Given the description of an element on the screen output the (x, y) to click on. 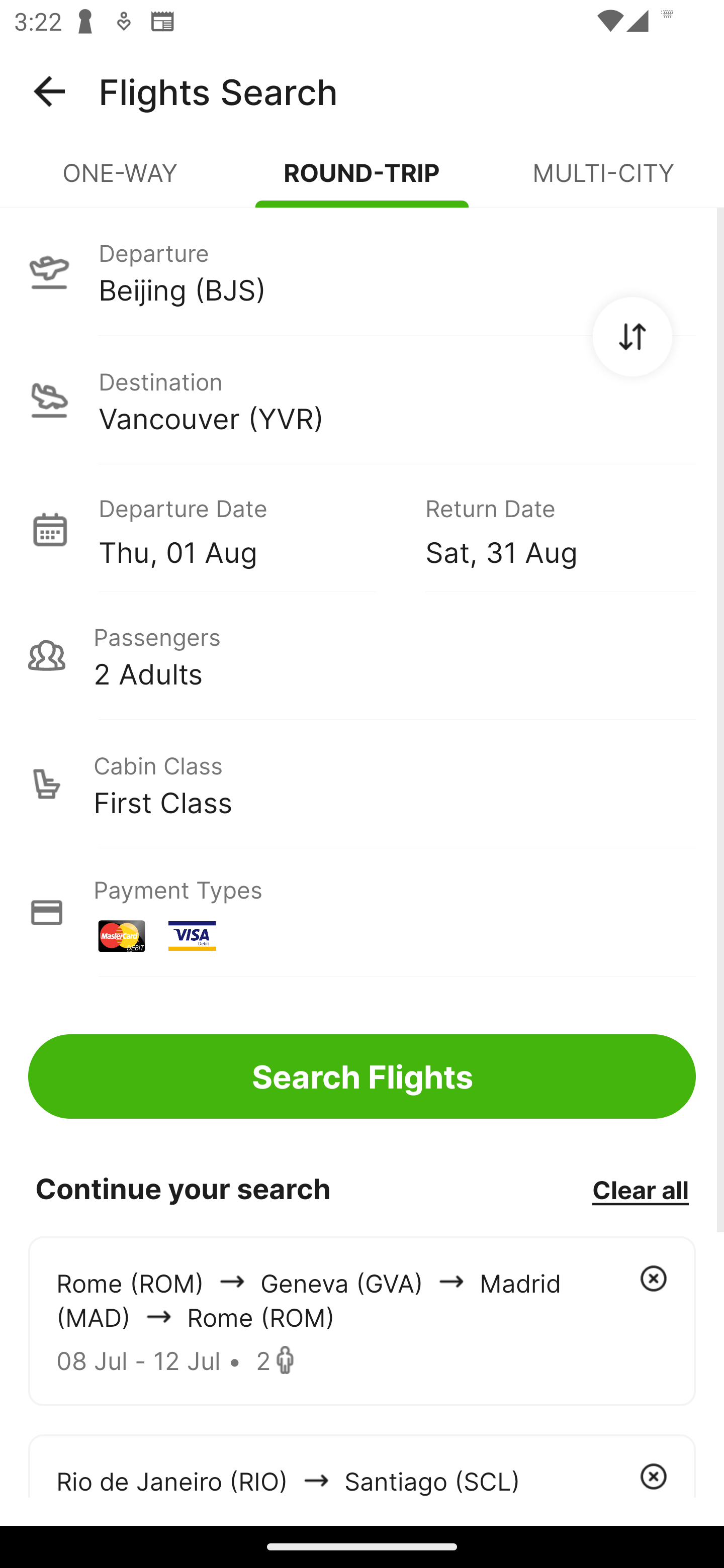
ONE-WAY (120, 180)
ROUND-TRIP (361, 180)
MULTI-CITY (603, 180)
Departure Beijing (BJS) (362, 270)
Destination Vancouver (YVR) (362, 400)
Departure Date Thu, 01 Aug (247, 528)
Return Date Sat, 31 Aug (546, 528)
Passengers 2 Adults (362, 655)
Cabin Class First Class (362, 783)
Payment Types (362, 912)
Search Flights (361, 1075)
Clear all (640, 1189)
Rio de Janeiro (RIO)  arrowIcon  Santiago (SCL) (361, 1465)
